Given the description of an element on the screen output the (x, y) to click on. 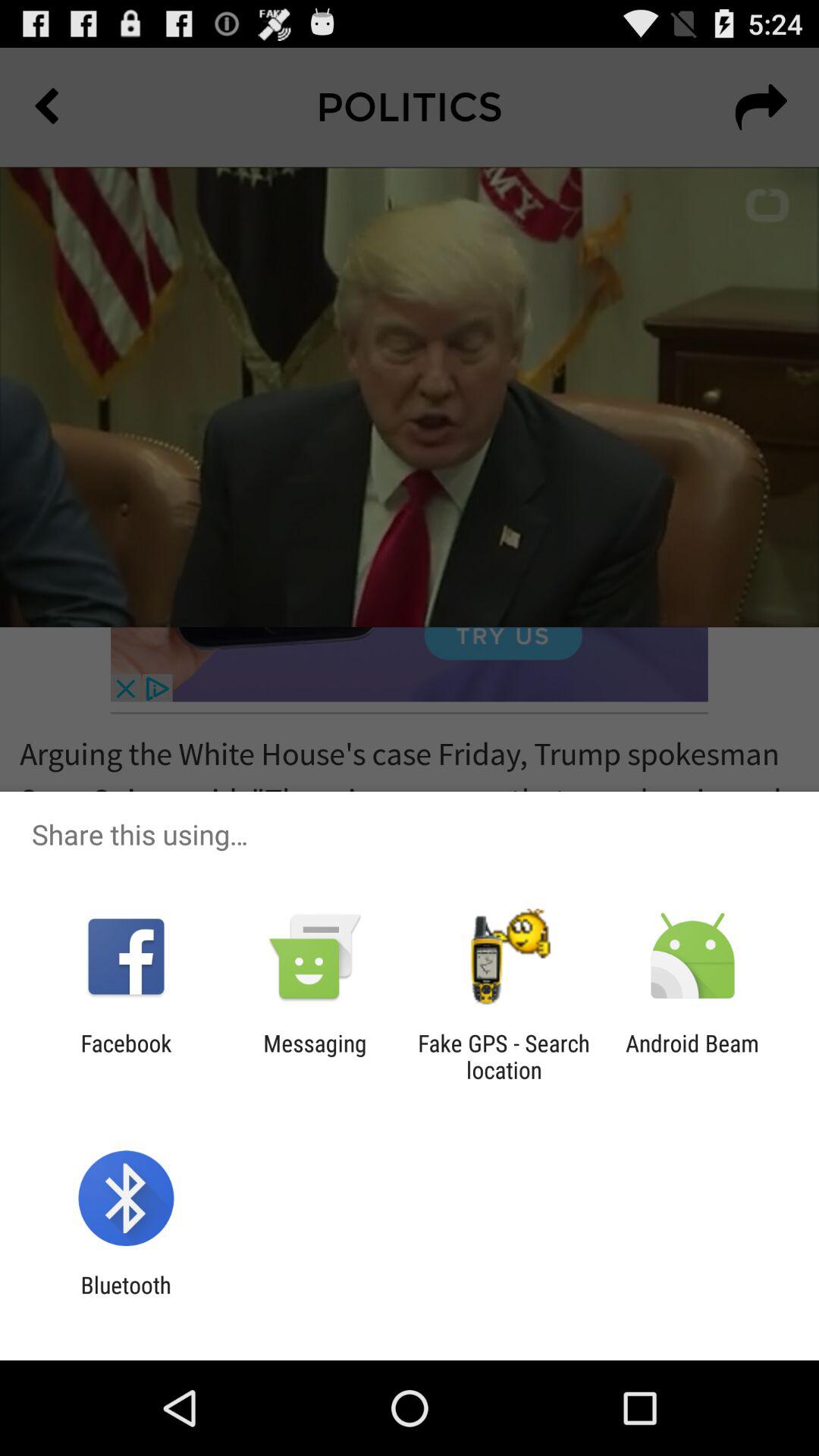
flip until the bluetooth icon (125, 1298)
